Given the description of an element on the screen output the (x, y) to click on. 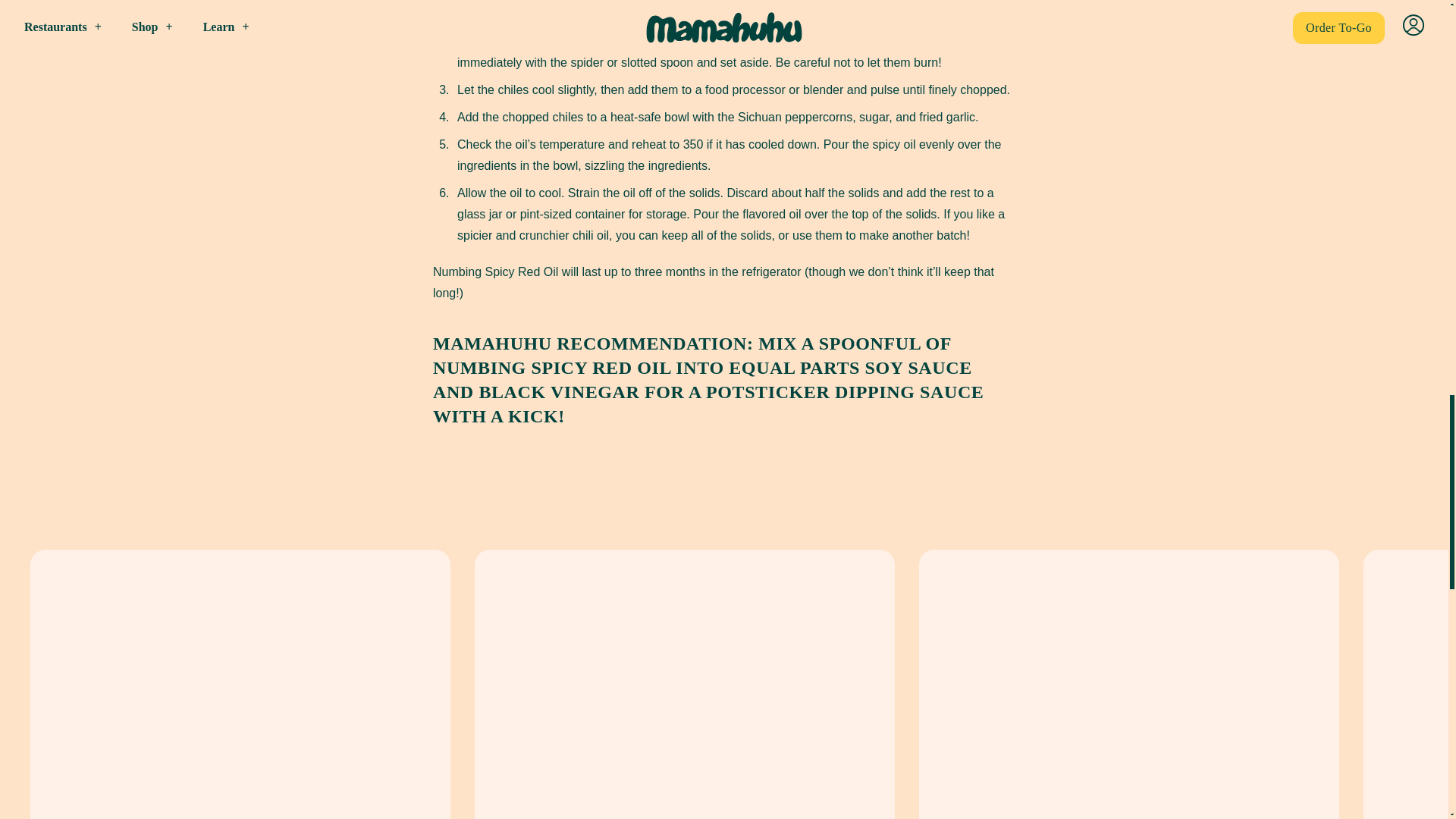
The Best Spider Skimmers - America's Test Kitchen (993, 2)
